Given the description of an element on the screen output the (x, y) to click on. 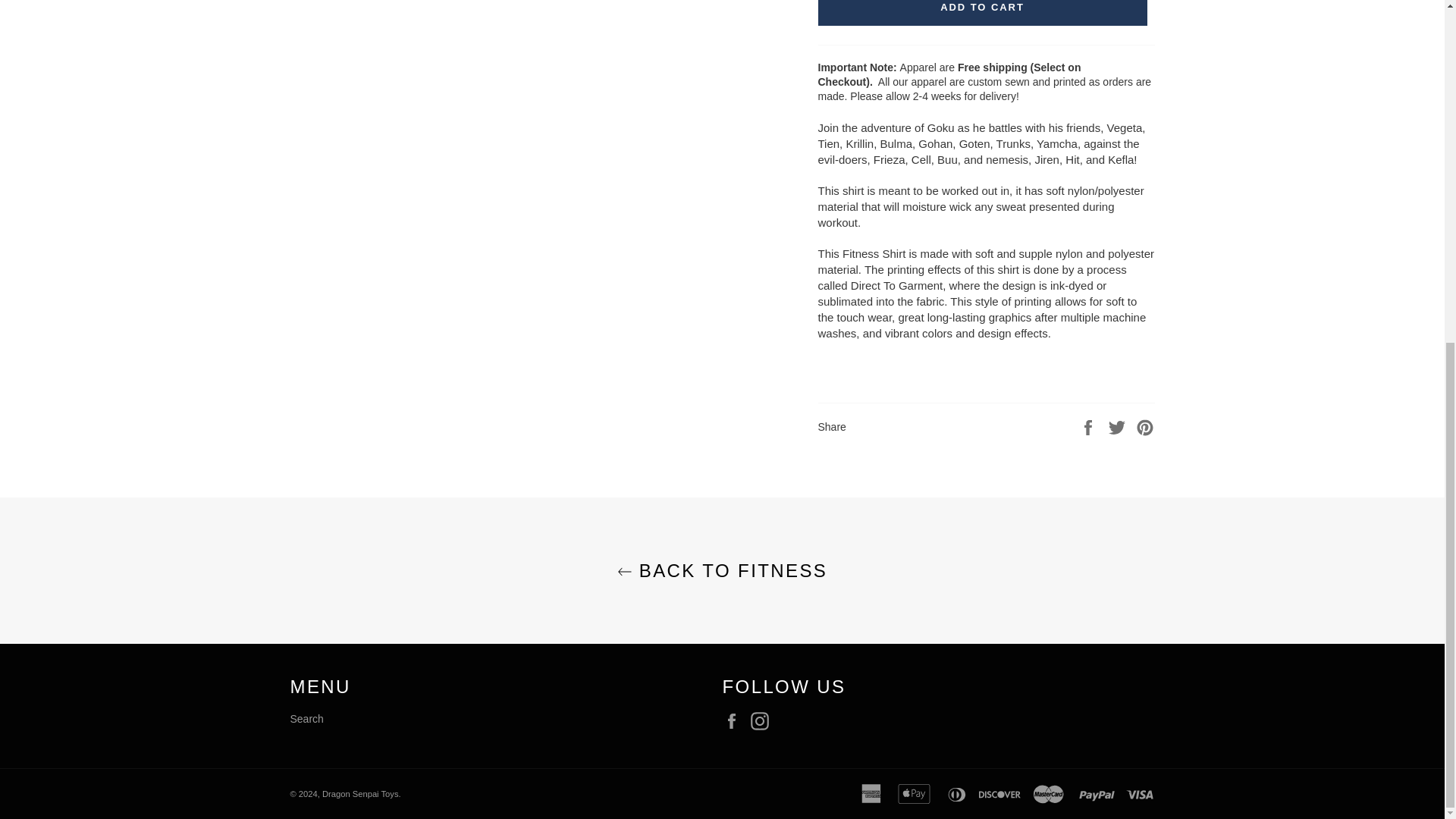
Pin on Pinterest (1144, 426)
Dragon Senpai Toys on Instagram (763, 720)
Share on Facebook (1089, 426)
Dragon Senpai Toys on Facebook (735, 720)
Tweet on Twitter (1118, 426)
